Given the description of an element on the screen output the (x, y) to click on. 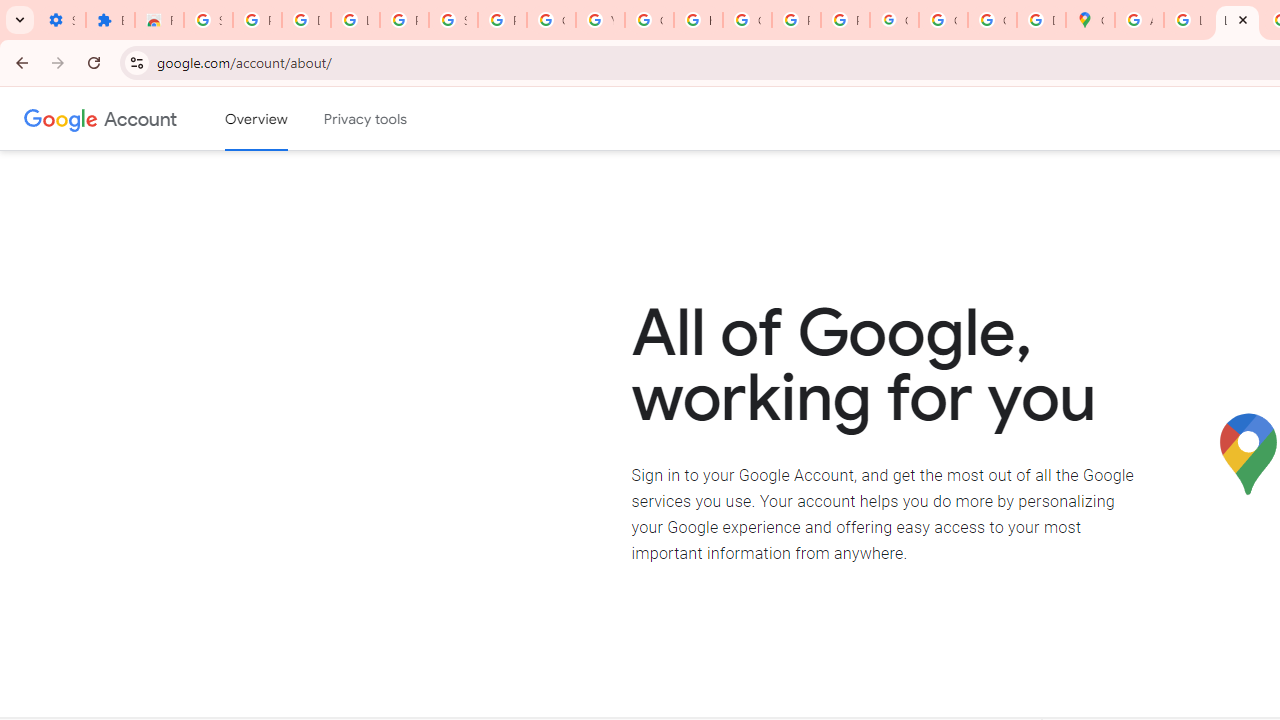
Google Maps (1090, 20)
Google Account (140, 118)
YouTube (600, 20)
